Given the description of an element on the screen output the (x, y) to click on. 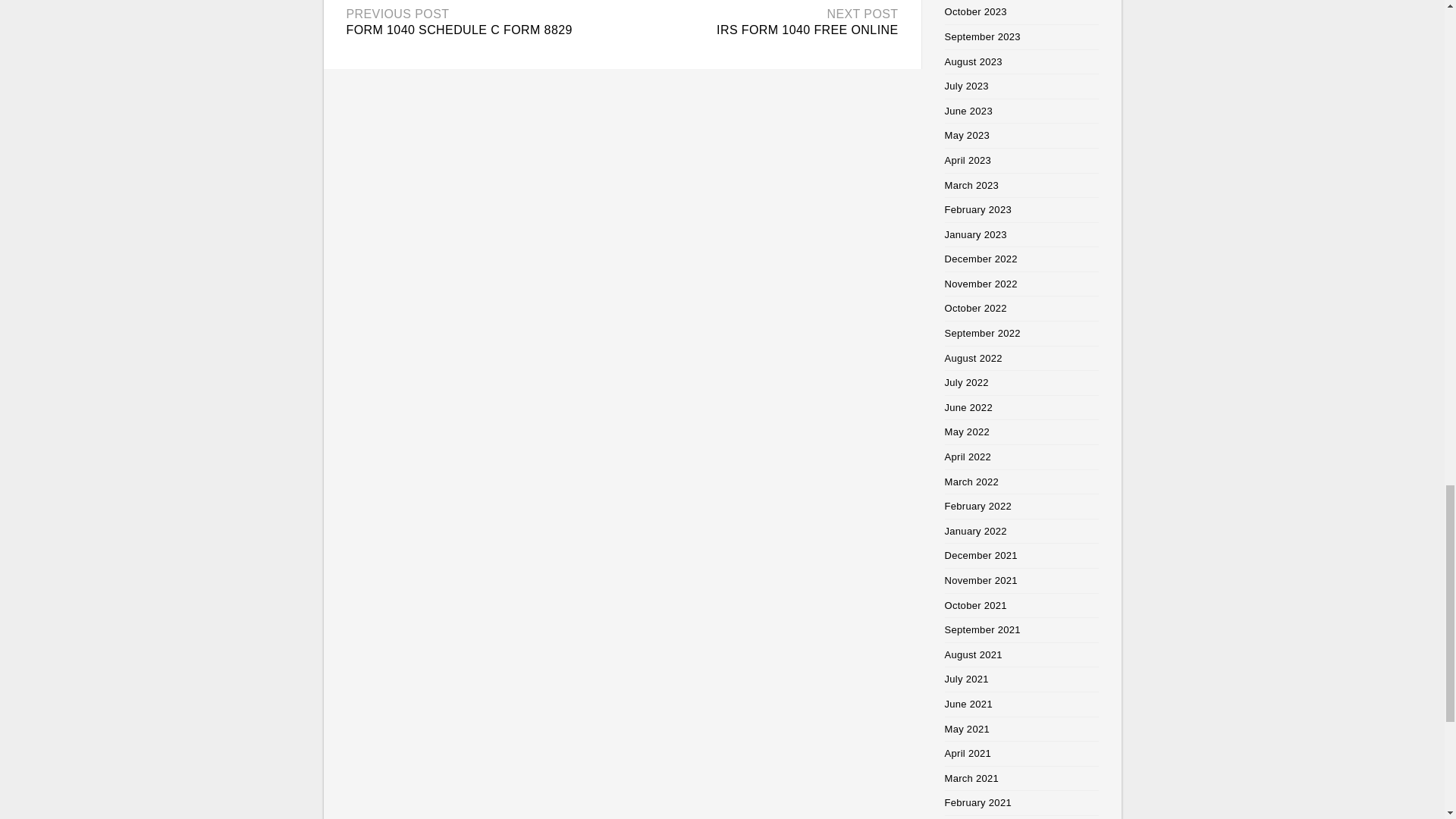
FORM 1040 SCHEDULE C FORM 8829 (459, 29)
IRS FORM 1040 FREE ONLINE (807, 29)
October 2023 (975, 11)
September 2023 (982, 36)
